Given the description of an element on the screen output the (x, y) to click on. 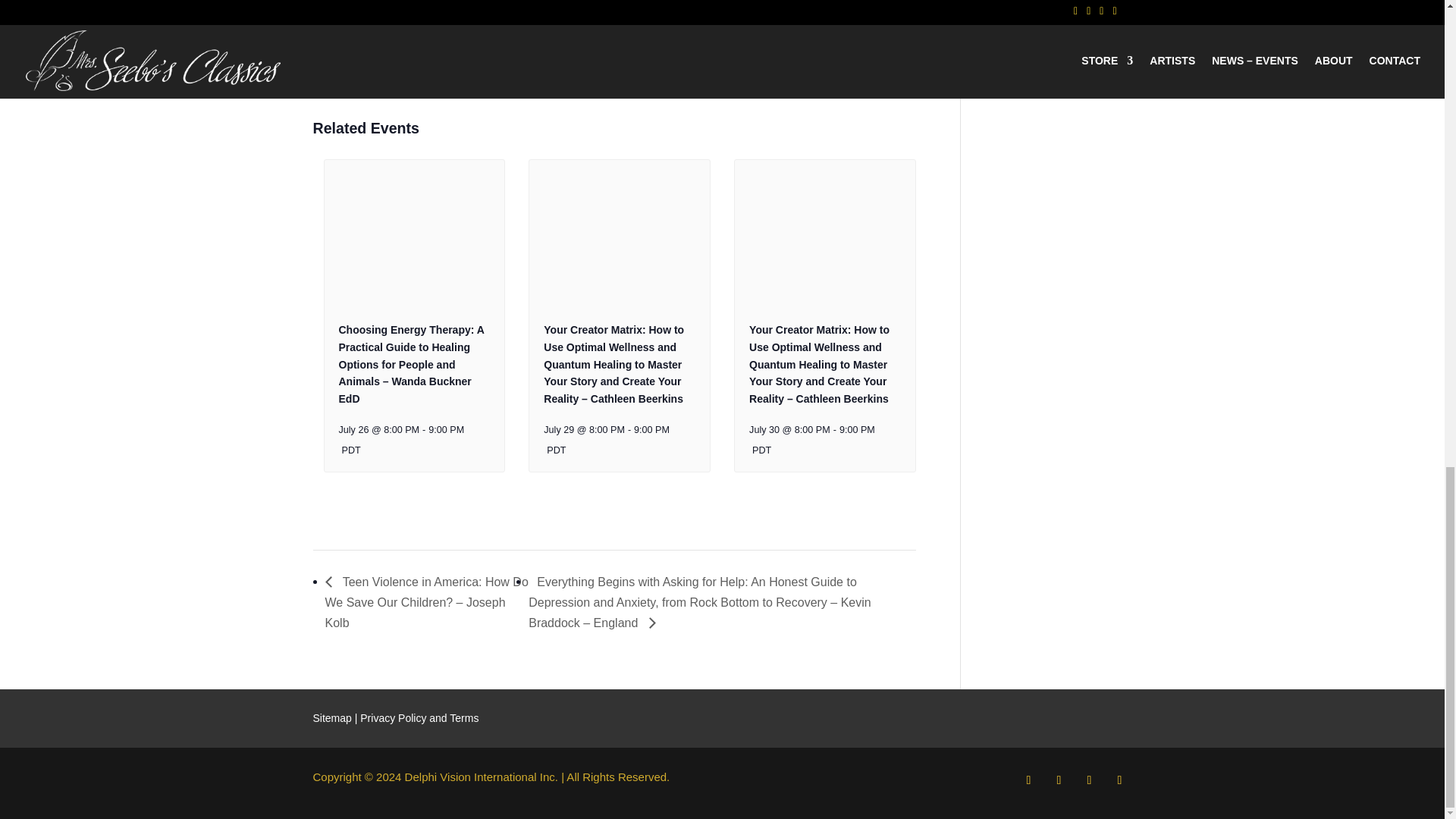
Follow on Facebook (1028, 780)
Sitemap (331, 717)
Follow on RSS (1118, 780)
Follow on Instagram (1088, 780)
Follow on X (1058, 780)
Privacy Policy and Terms (419, 717)
